Given the description of an element on the screen output the (x, y) to click on. 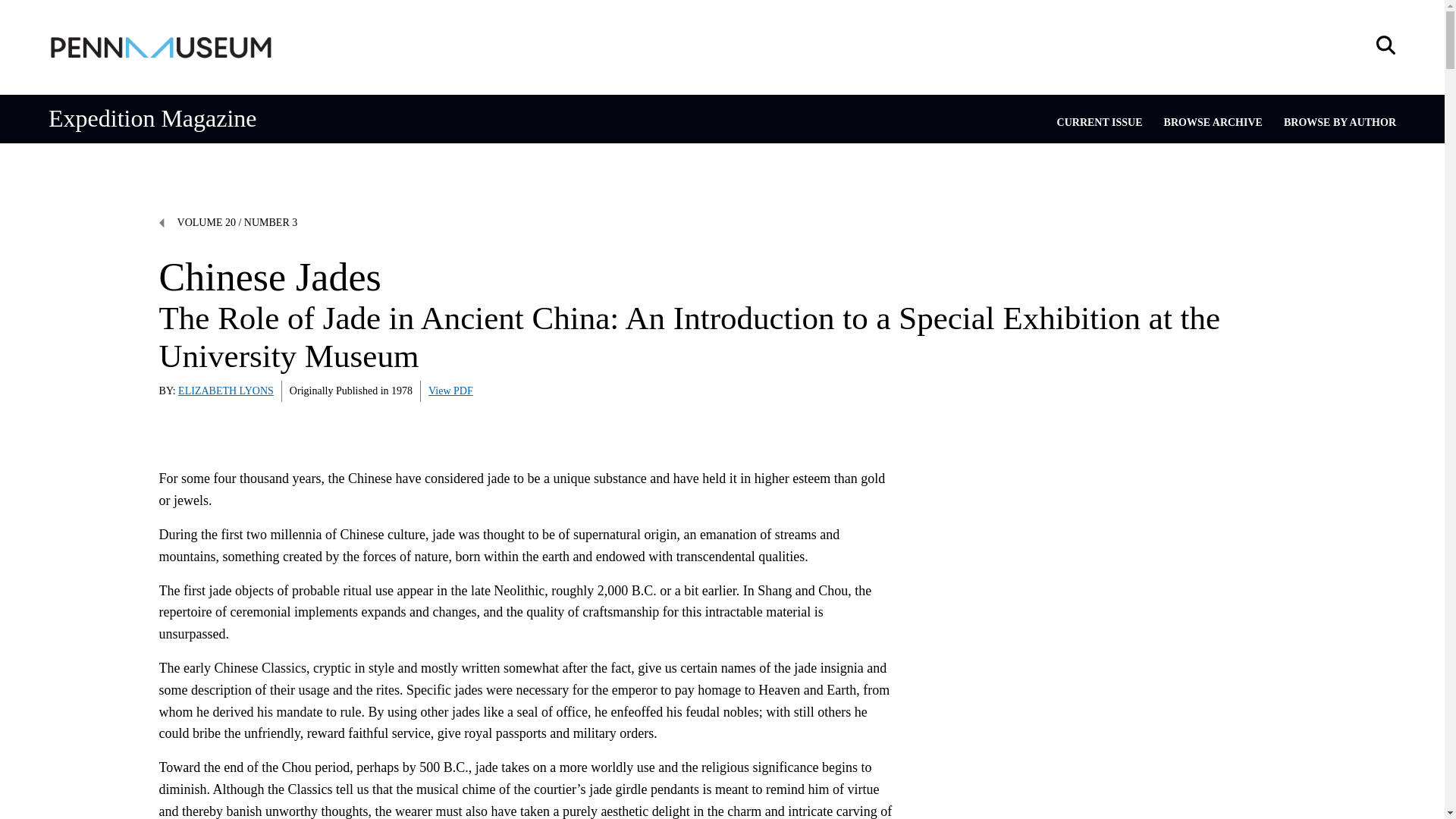
CURRENT ISSUE (1099, 122)
Expedition Magazine (152, 117)
View PDF (450, 390)
ELIZABETH LYONS (225, 390)
BROWSE ARCHIVE (1212, 122)
BROWSE BY AUTHOR (1340, 122)
